Given the description of an element on the screen output the (x, y) to click on. 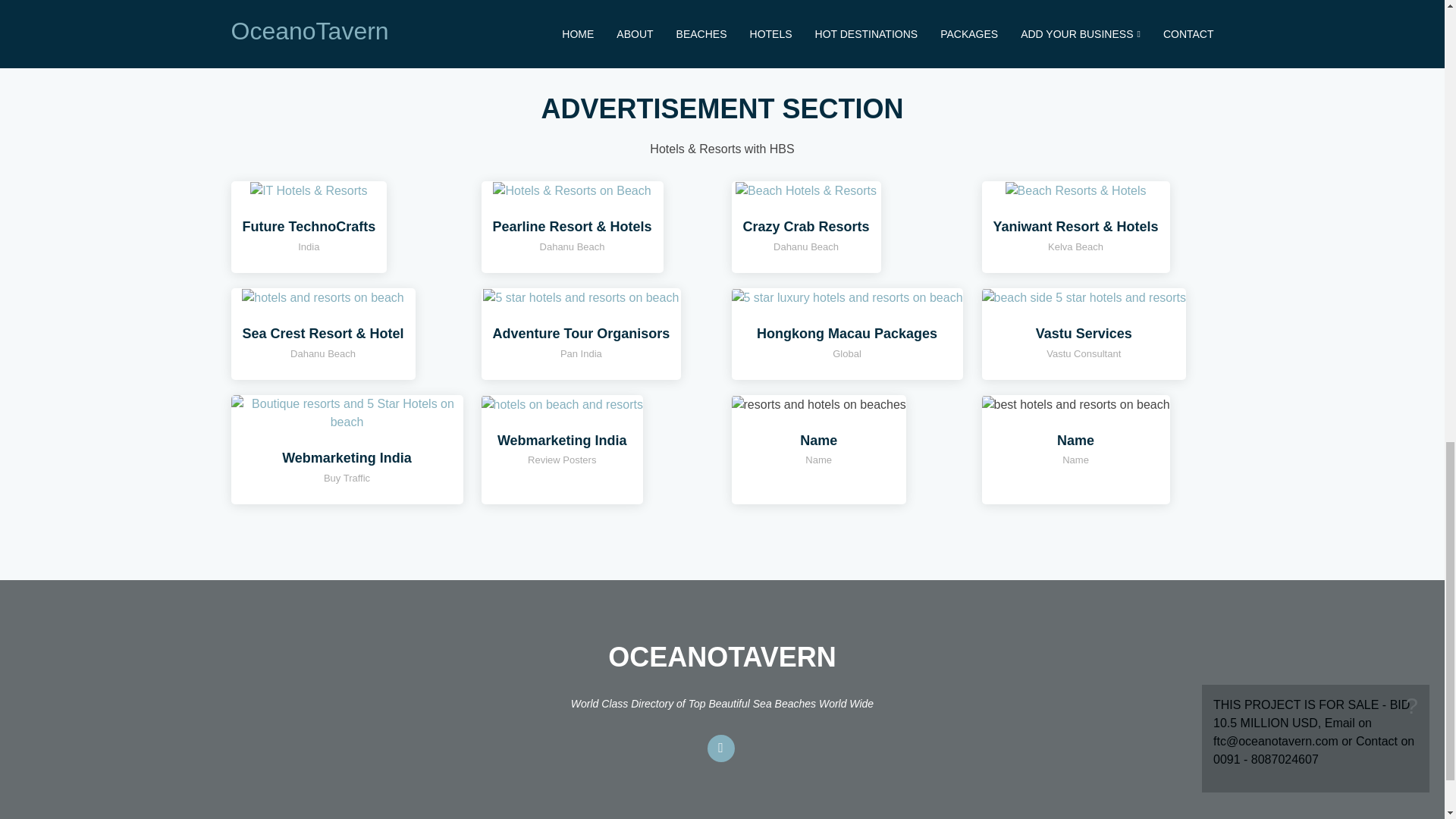
hotels and Resorts (846, 296)
hotels and Resorts (346, 411)
hotels and Resorts (580, 296)
hotels and Resorts (561, 403)
hotels and Resorts (1083, 296)
hotels and Resorts (308, 189)
hotels and Resorts (322, 296)
hotels and Resorts (805, 189)
hotels and Resorts (571, 189)
hotels and Resorts (1076, 189)
